Given the description of an element on the screen output the (x, y) to click on. 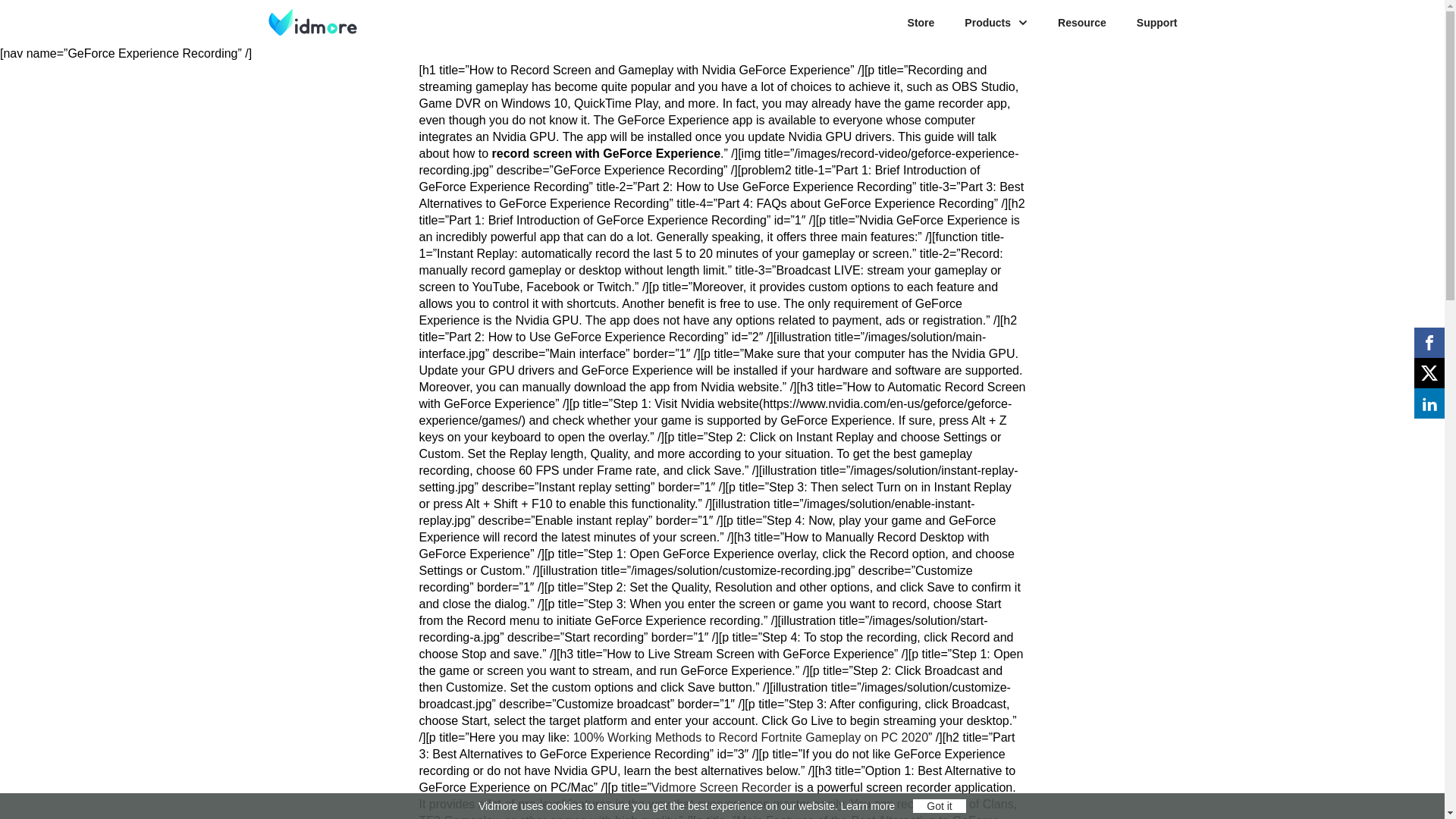
Store (920, 22)
